Given the description of an element on the screen output the (x, y) to click on. 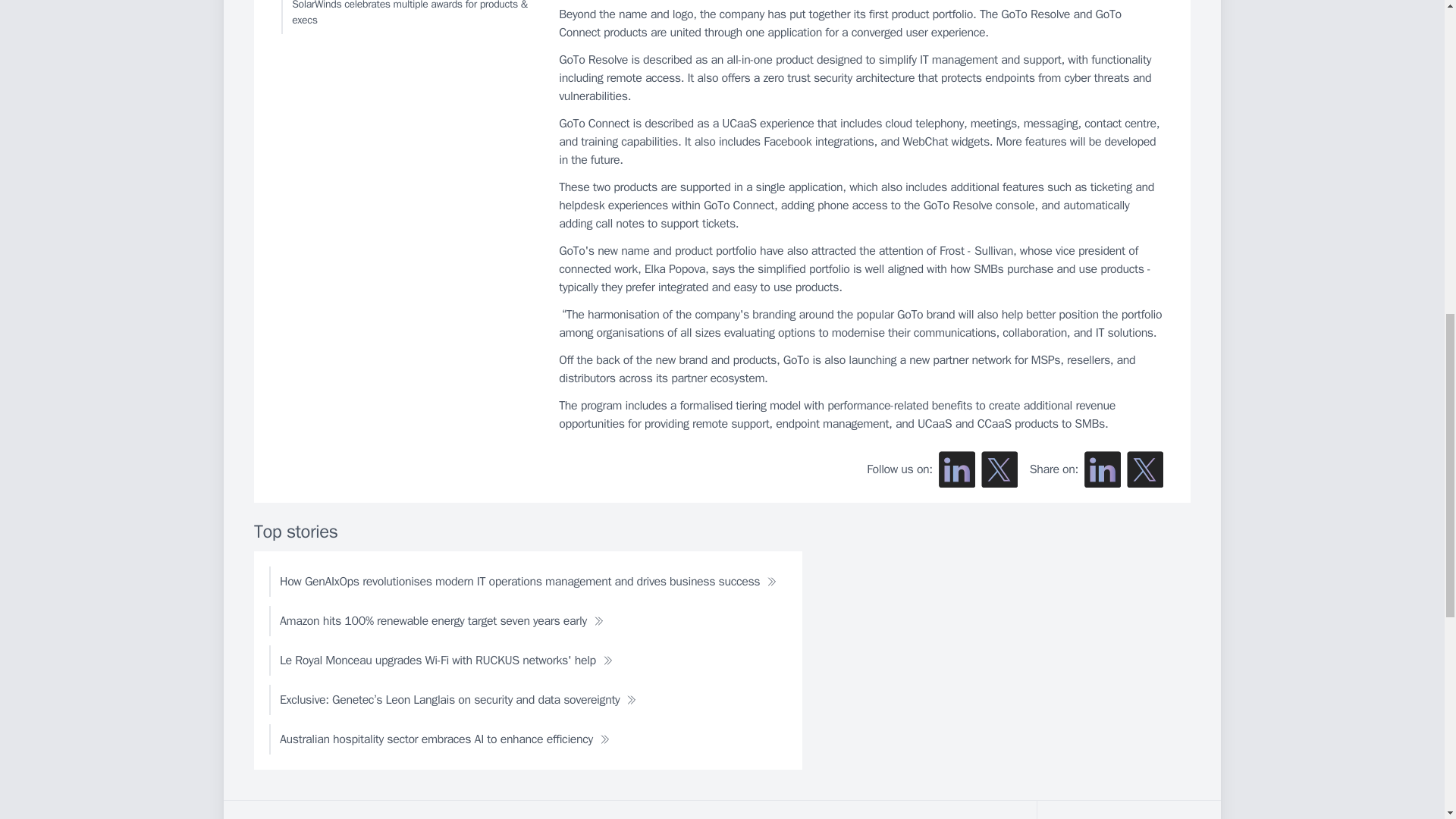
Le Royal Monceau upgrades Wi-Fi with RUCKUS networks' help (446, 660)
